Given the description of an element on the screen output the (x, y) to click on. 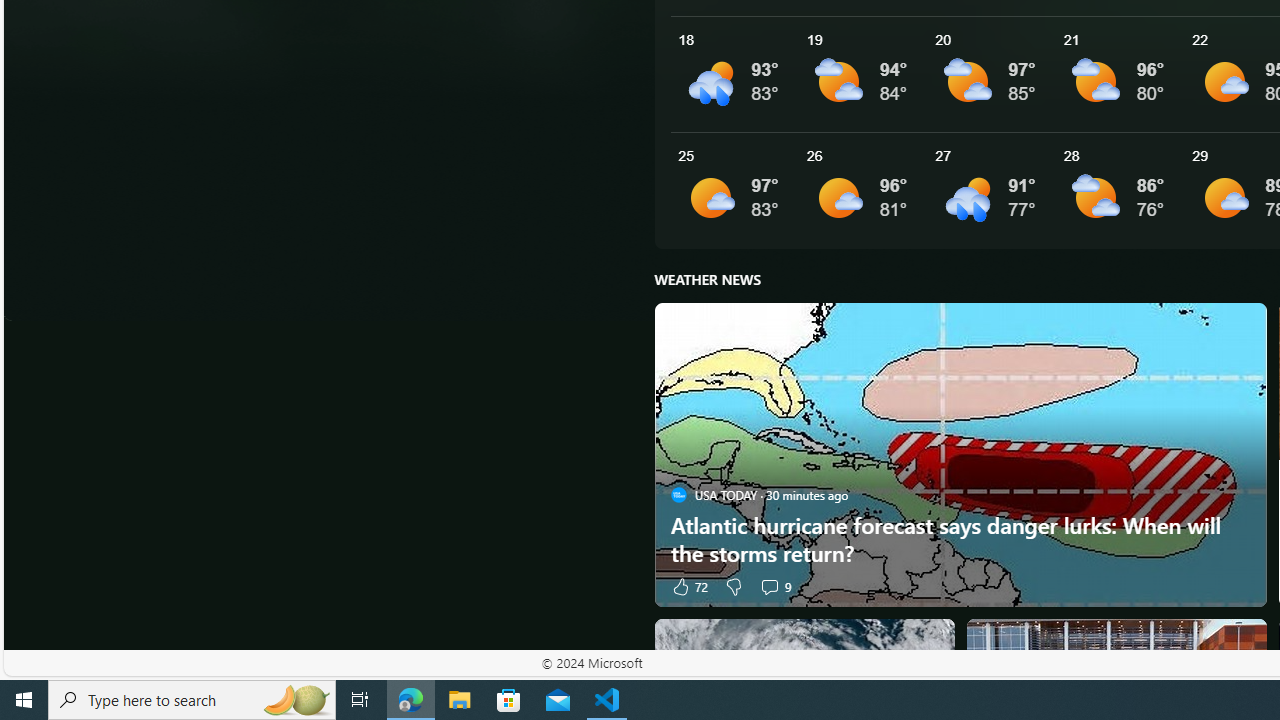
See More Details (1120, 190)
